Given the description of an element on the screen output the (x, y) to click on. 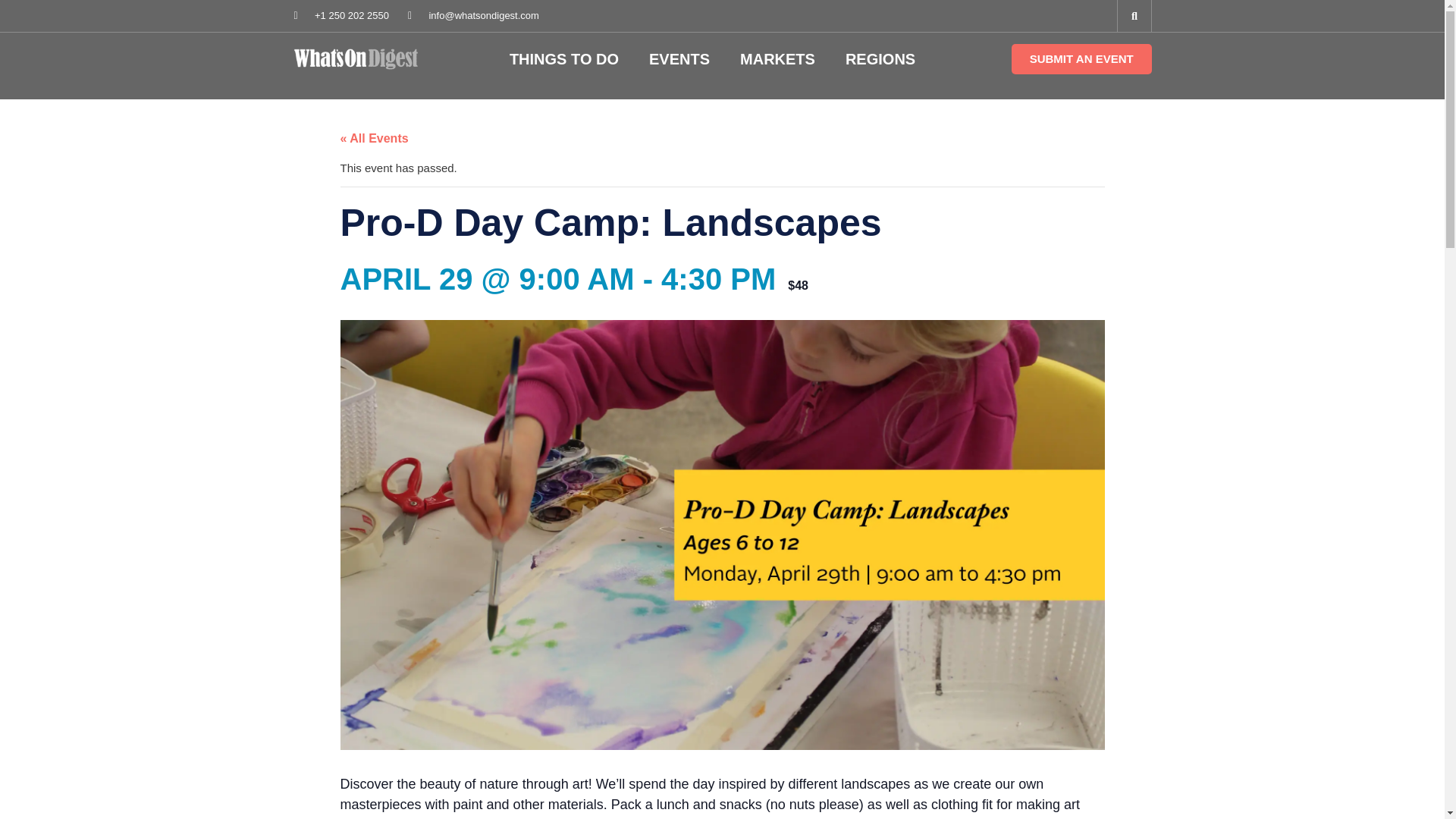
SUBMIT AN EVENT (1081, 59)
MARKETS (777, 58)
EVENTS (679, 58)
THINGS TO DO (563, 58)
REGIONS (880, 58)
